Given the description of an element on the screen output the (x, y) to click on. 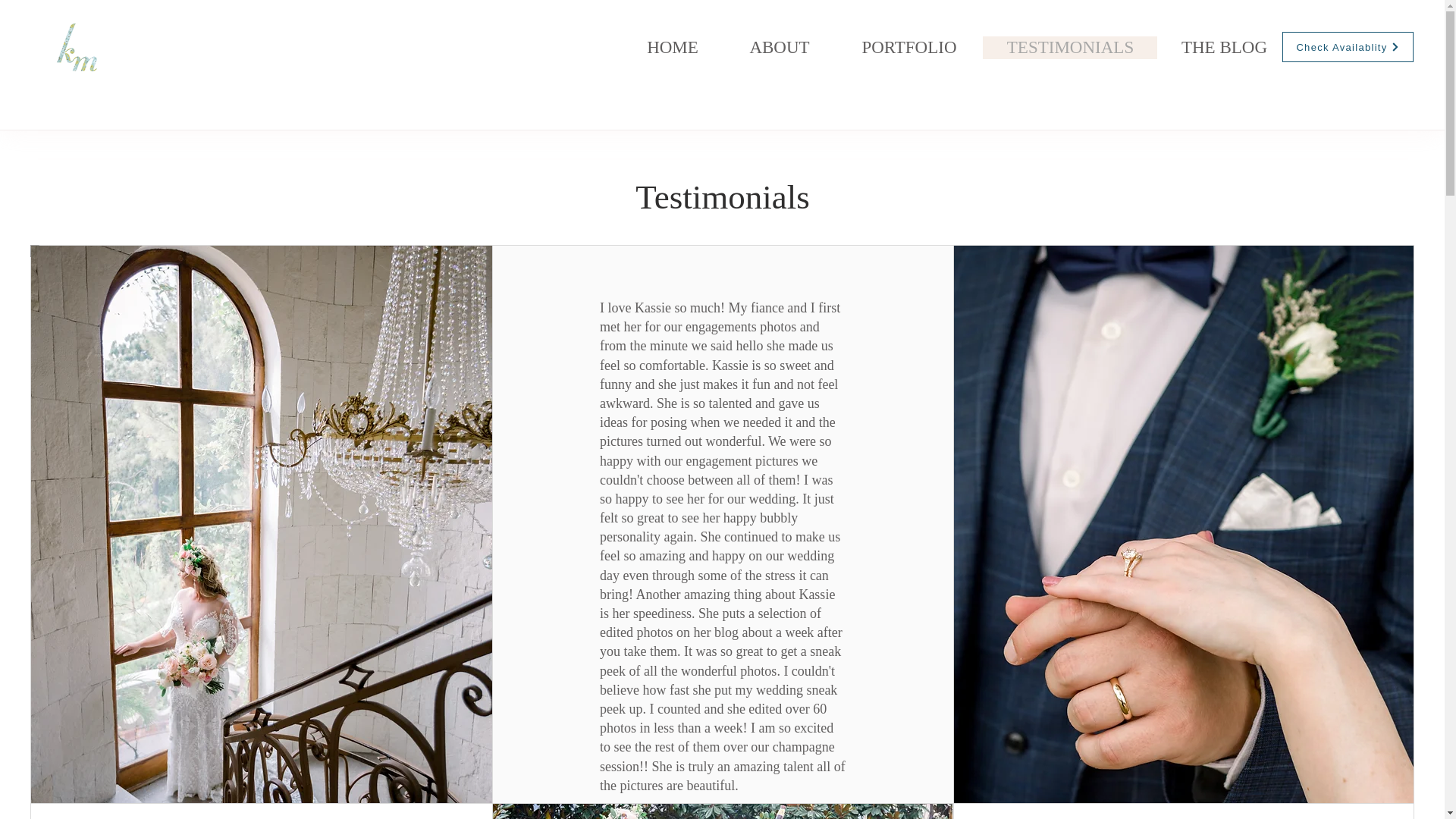
ABOUT (778, 47)
THE BLOG (1223, 47)
HOME (672, 47)
TESTIMONIALS (1069, 47)
Check Availablity (1347, 46)
